Given the description of an element on the screen output the (x, y) to click on. 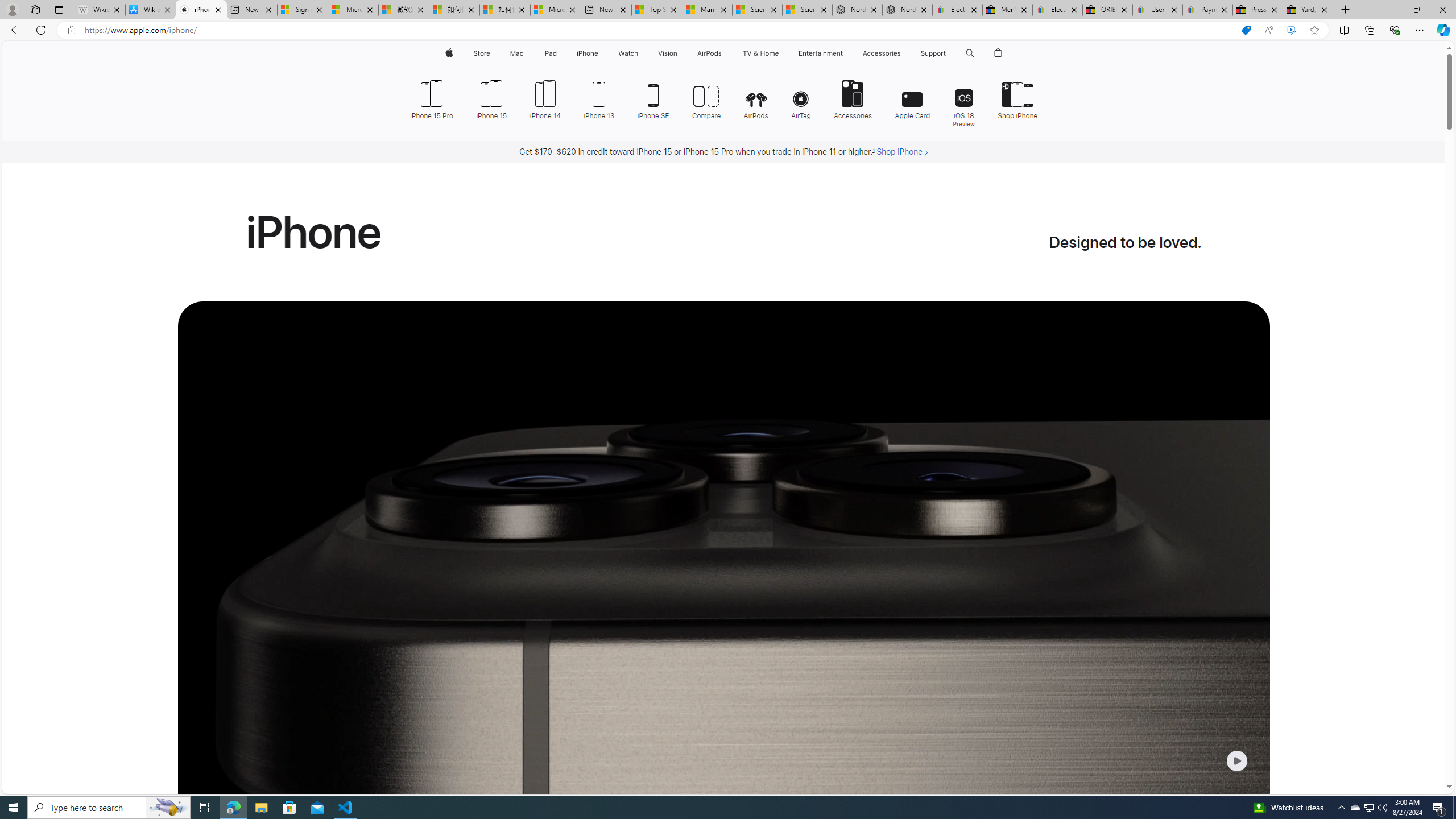
Class: control-centered-small-icon (1236, 760)
Shopping Bag (998, 53)
AirTag (800, 98)
Marine life - MSN (706, 9)
iPhone 15 Pro (430, 98)
Store menu (492, 53)
iPhone 14 (544, 98)
Compare (705, 98)
Shop iPhone (1017, 98)
Accessories (852, 98)
